Given the description of an element on the screen output the (x, y) to click on. 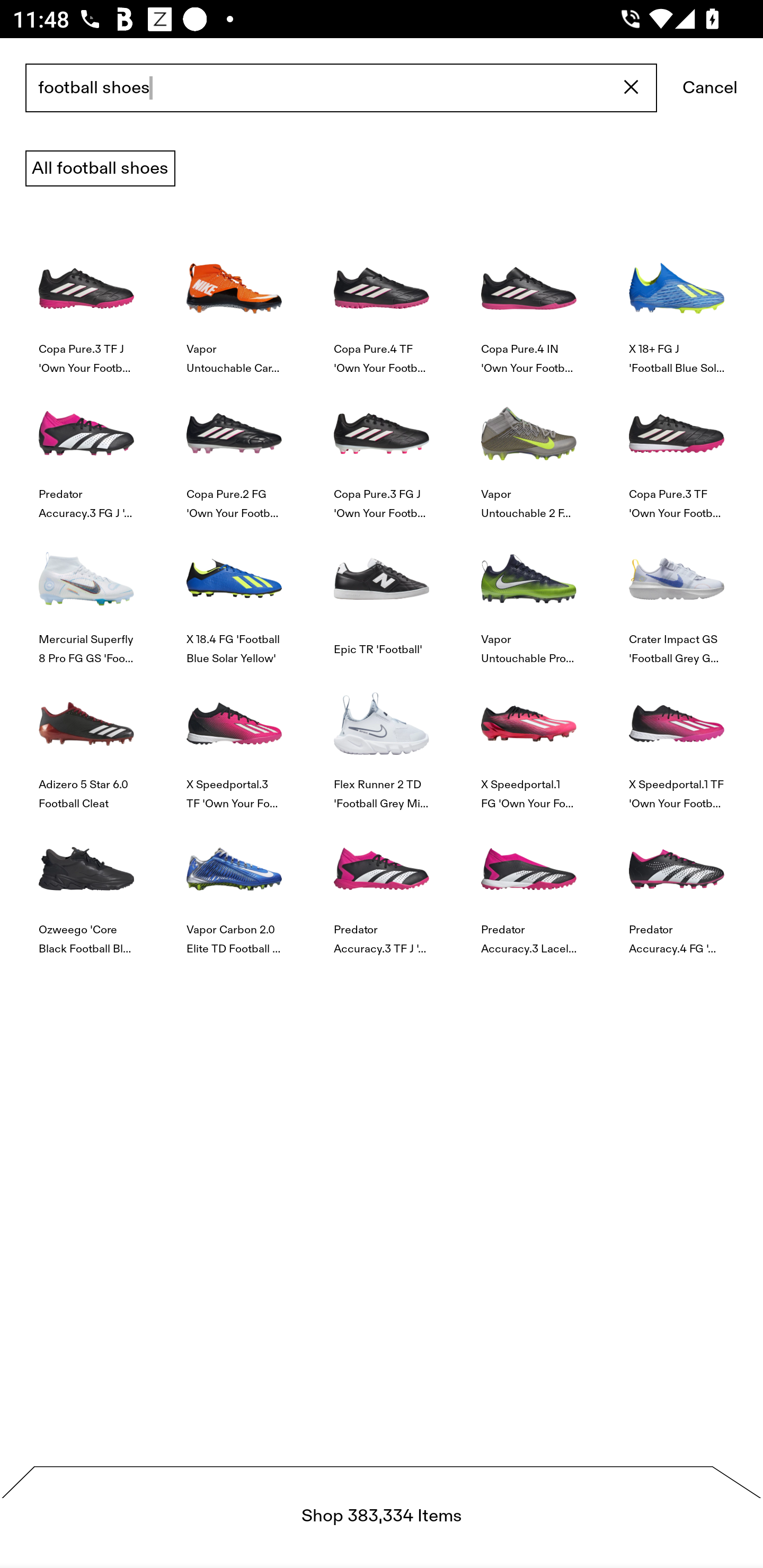
football shoes (340, 88)
Cancel (709, 88)
Clear text (631, 87)
All football shoes (100, 168)
Copa Pure.3 TF J 'Own Your Football Pack' (86, 303)
Vapor Untouchable Carbon Flyknit Football Cleat (233, 303)
Copa Pure.4 TF 'Own Your Football Pack' (381, 303)
Copa Pure.4 IN 'Own Your Football Pack' (528, 303)
X 18+ FG J 'Football Blue Solar Yellow' (676, 303)
Predator Accuracy.3 FG J 'Own Your Football Pack' (86, 448)
Copa Pure.2 FG 'Own Your Football Pack' (233, 448)
Copa Pure.3 FG J 'Own Your Football Pack' (381, 448)
Vapor Untouchable 2 Football Cleat 'Wolf Grey' (528, 448)
Copa Pure.3 TF 'Own Your Football Pack' (676, 448)
X 18.4 FG 'Football Blue Solar Yellow' (233, 593)
Epic TR 'Football' (381, 593)
Vapor Untouchable Pro PF Football Cleat (528, 593)
Crater Impact GS 'Football Grey Game Royal' (676, 593)
Adizero 5 Star 6.0 Football Cleat (86, 739)
X Speedportal.3 TF 'Own Your Football Pack' (233, 739)
Flex Runner 2 TD 'Football Grey Midnight Navy' (381, 739)
X Speedportal.1 FG 'Own Your Football Pack' (528, 739)
X Speedportal.1 TF 'Own Your Football Pack' (676, 739)
Ozweego 'Core Black Football Blue' (86, 884)
Vapor Carbon 2.0 Elite TD Football Cleat (233, 884)
Predator Accuracy.3 TF J 'Own Your Football Pack' (381, 884)
Predator Accuracy.4 FG 'Own Your Football Pack' (676, 884)
Shop 383,334 Items (381, 1517)
